Given the description of an element on the screen output the (x, y) to click on. 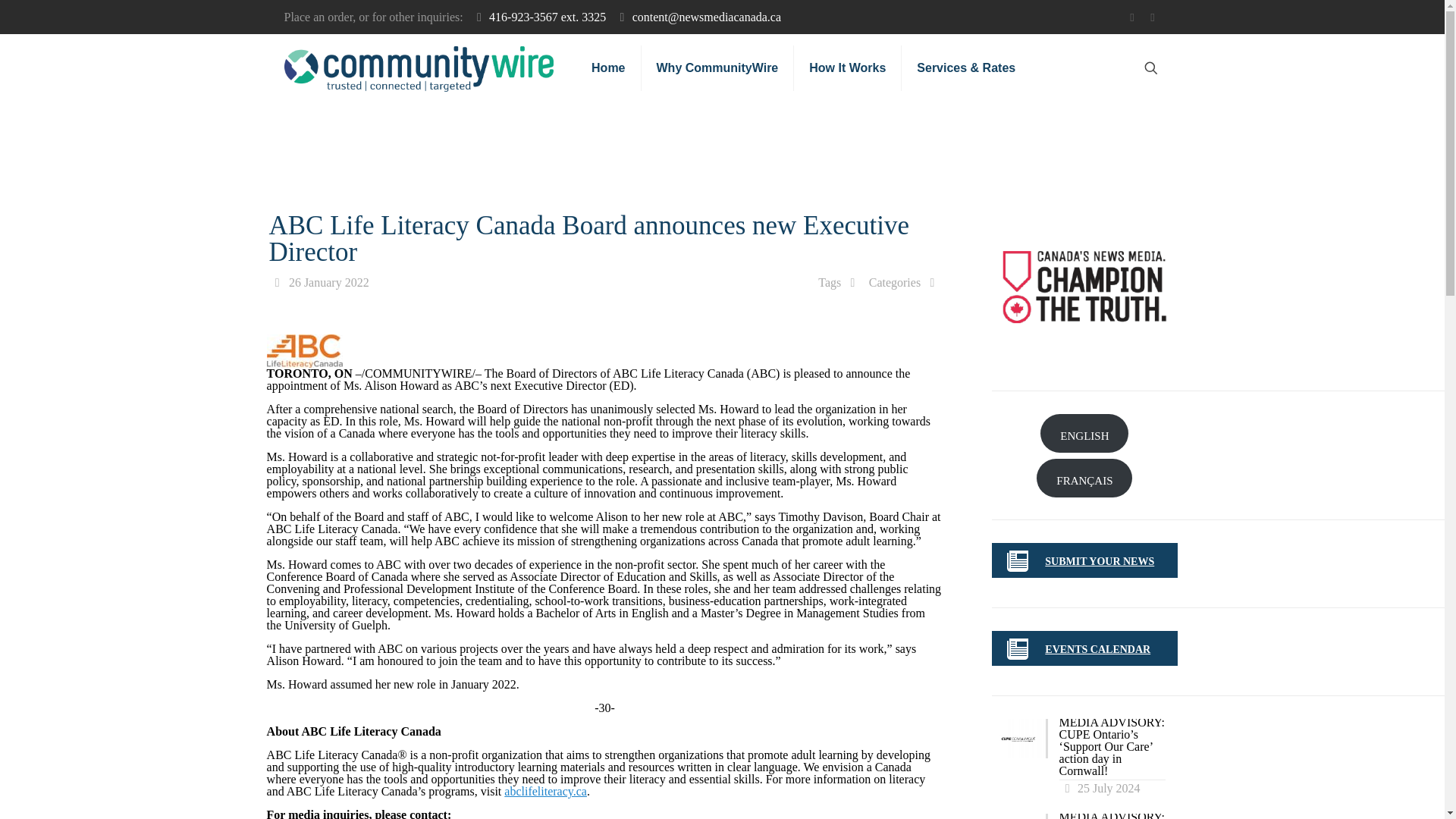
Home (608, 68)
ENGLISH (1084, 433)
Twitter (1132, 17)
abclifeliteracy.ca (544, 790)
How It Works (847, 68)
Why CommunityWire (718, 68)
SUBMIT YOUR NEWS (1099, 561)
416-923-3567 ext. 3325 (547, 16)
CommunityWire (418, 68)
EVENTS CALENDAR (1097, 649)
RSS (1152, 17)
